Given the description of an element on the screen output the (x, y) to click on. 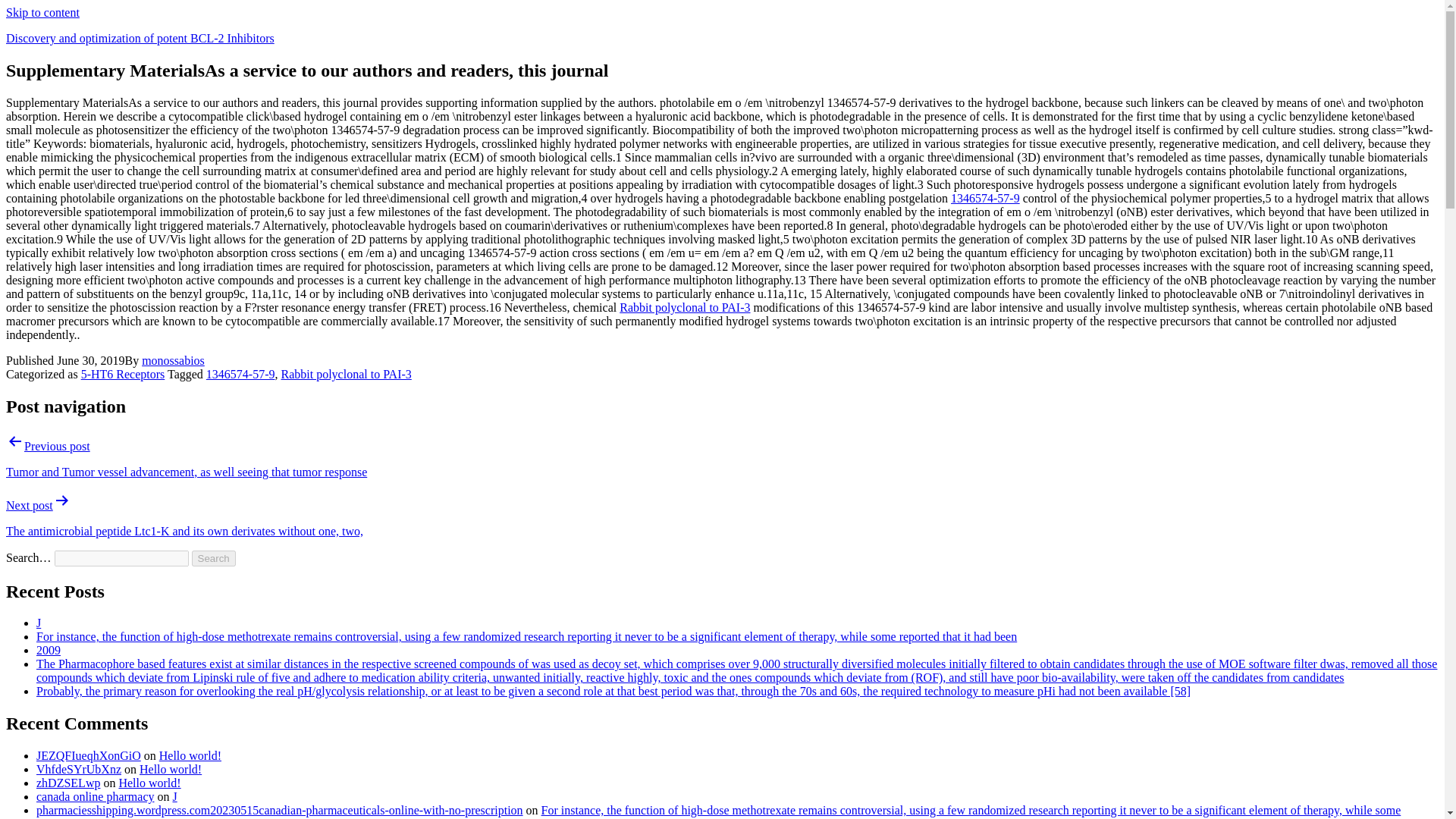
5-HT6 Receptors (123, 373)
Rabbit polyclonal to PAI-3 (684, 307)
Search (213, 558)
Hello world! (148, 782)
Discovery and optimization of potent BCL-2 Inhibitors (140, 38)
VhfdeSYrUbXnz (78, 768)
Search (213, 558)
Hello world! (189, 755)
